Given the description of an element on the screen output the (x, y) to click on. 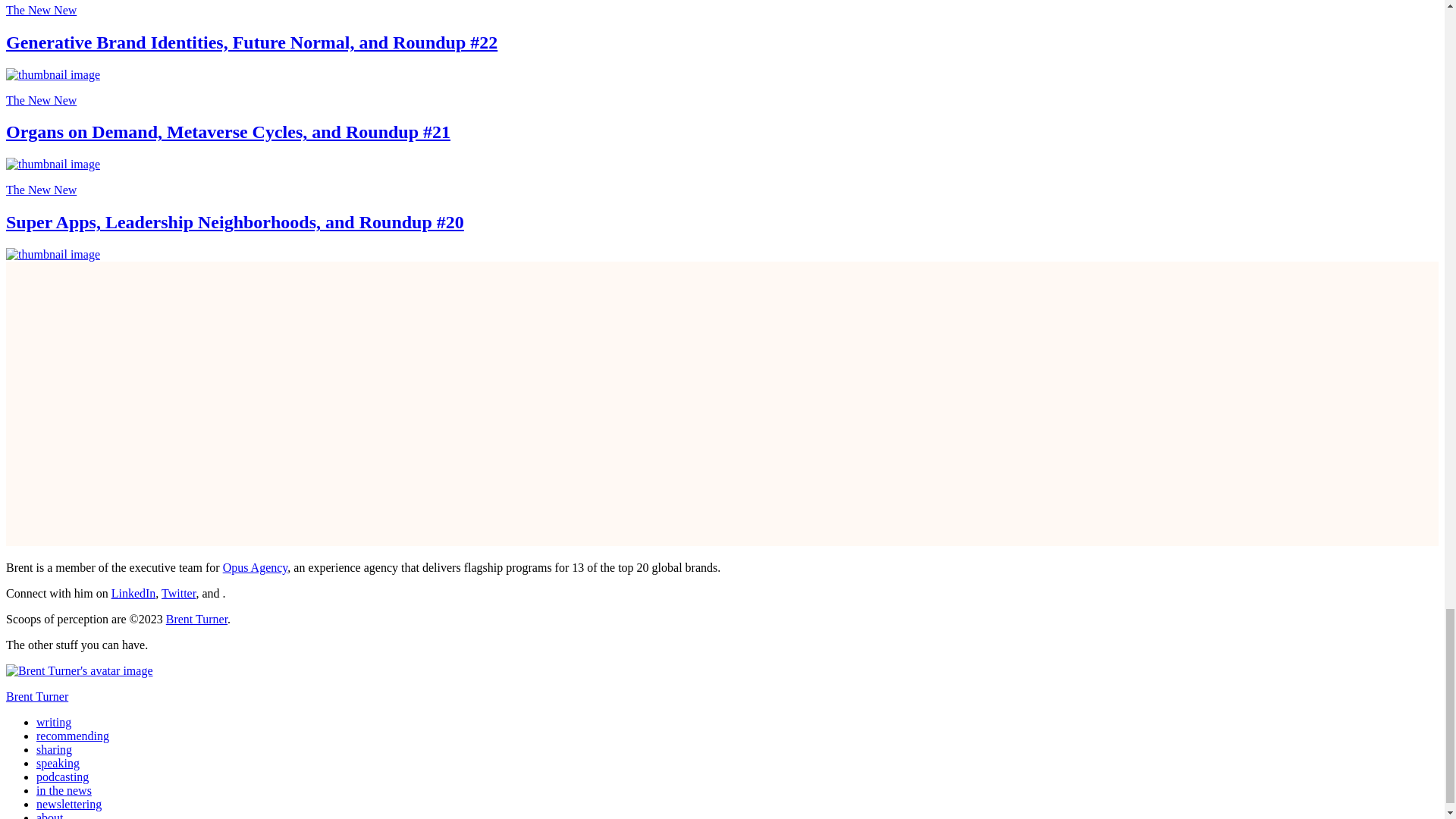
Twitter (178, 593)
LinkedIn (133, 593)
Opus Agency (255, 567)
